Given the description of an element on the screen output the (x, y) to click on. 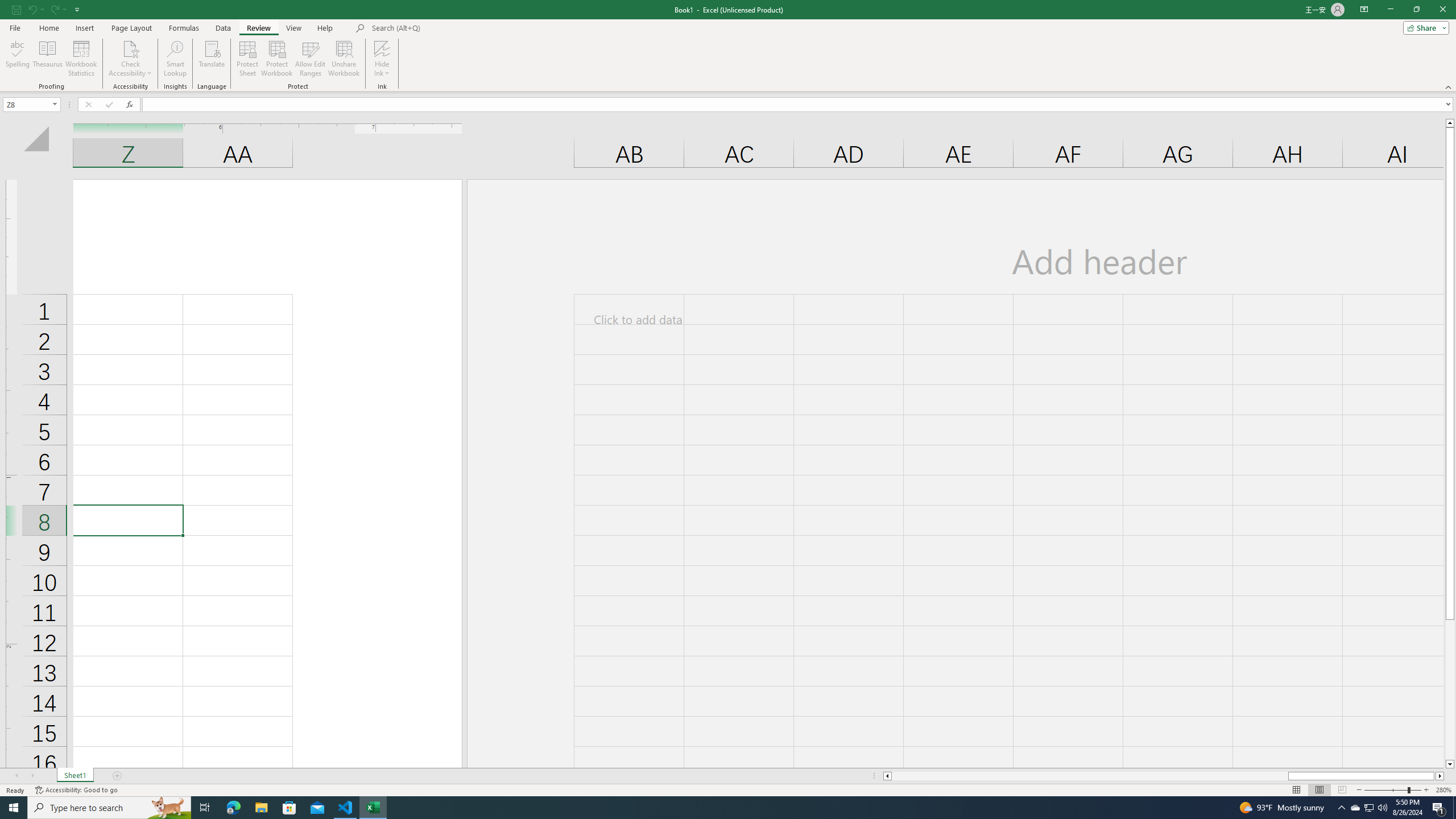
Unshare Workbook (344, 58)
Workbook Statistics (81, 58)
